Given the description of an element on the screen output the (x, y) to click on. 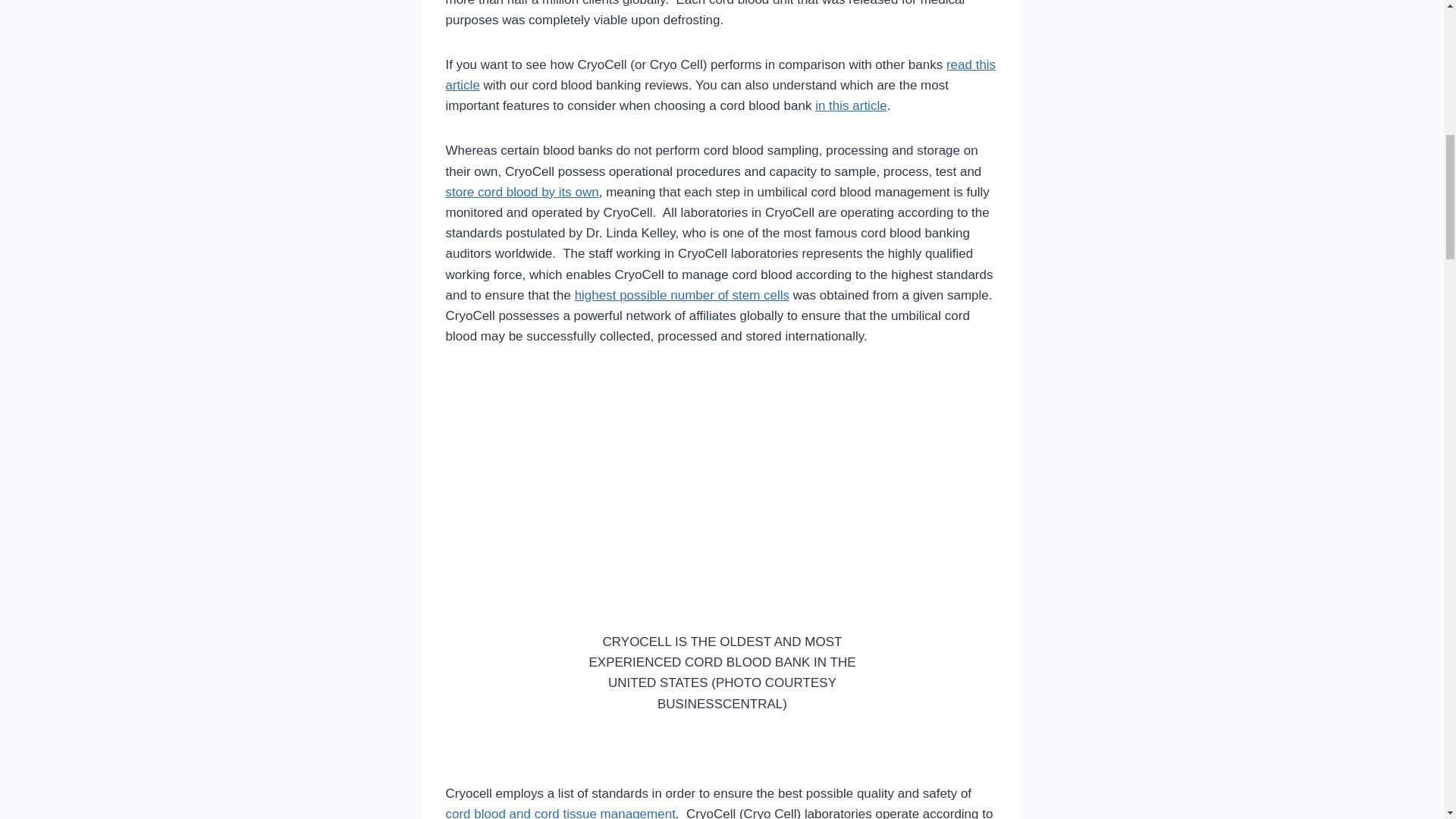
read this article (720, 74)
cord blood and cord tissue management (560, 812)
highest possible number of stem cells (682, 295)
store cord blood by its own (521, 192)
in this article (850, 105)
